Given the description of an element on the screen output the (x, y) to click on. 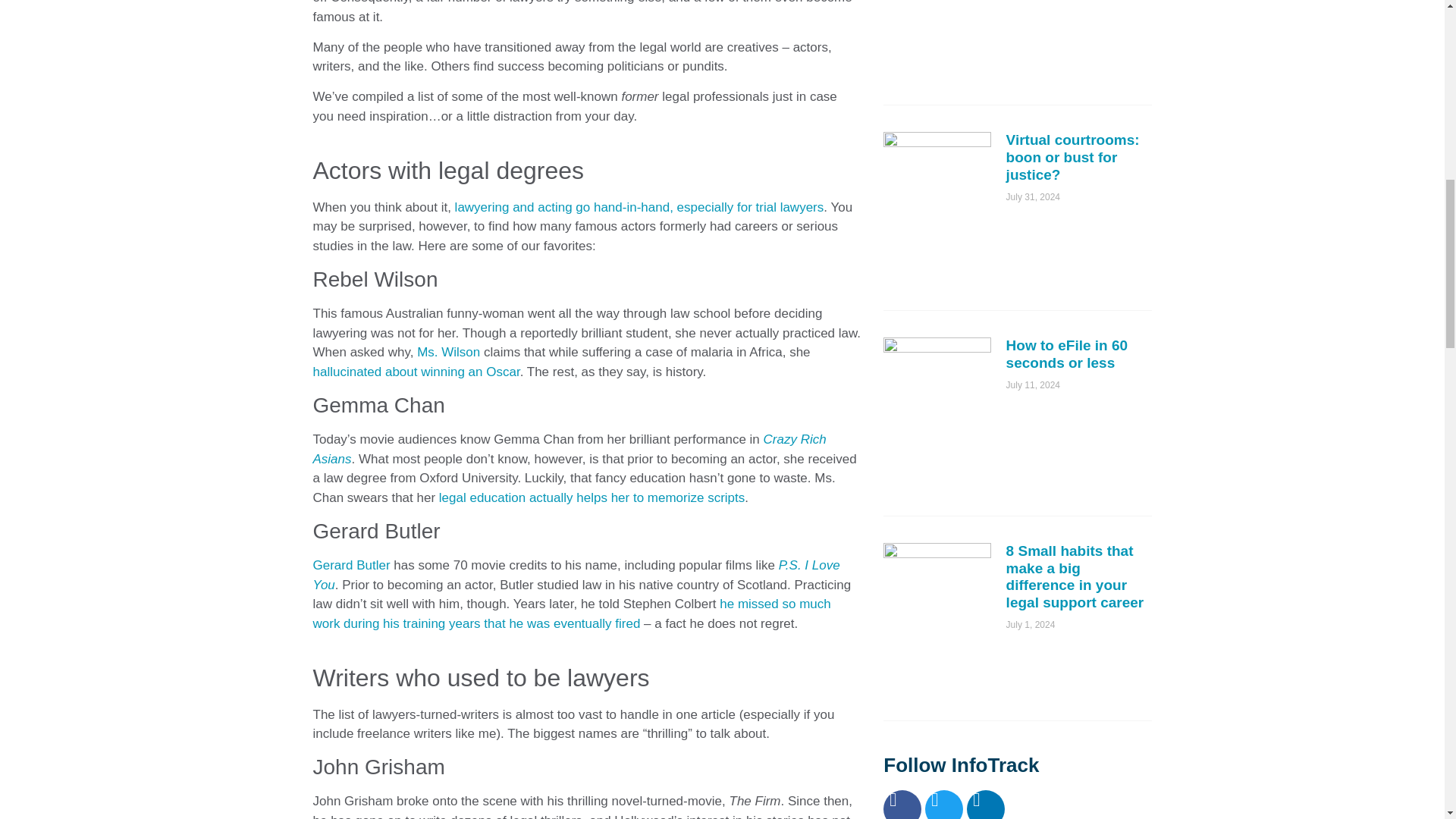
Gerard Butler (351, 564)
P.S. I Love You (576, 574)
hallucinated about winning an Oscar (416, 371)
legal education actually helps her to memorize scripts (591, 497)
Ms. Wilson (448, 351)
Crazy Rich Asians (569, 449)
